Given the description of an element on the screen output the (x, y) to click on. 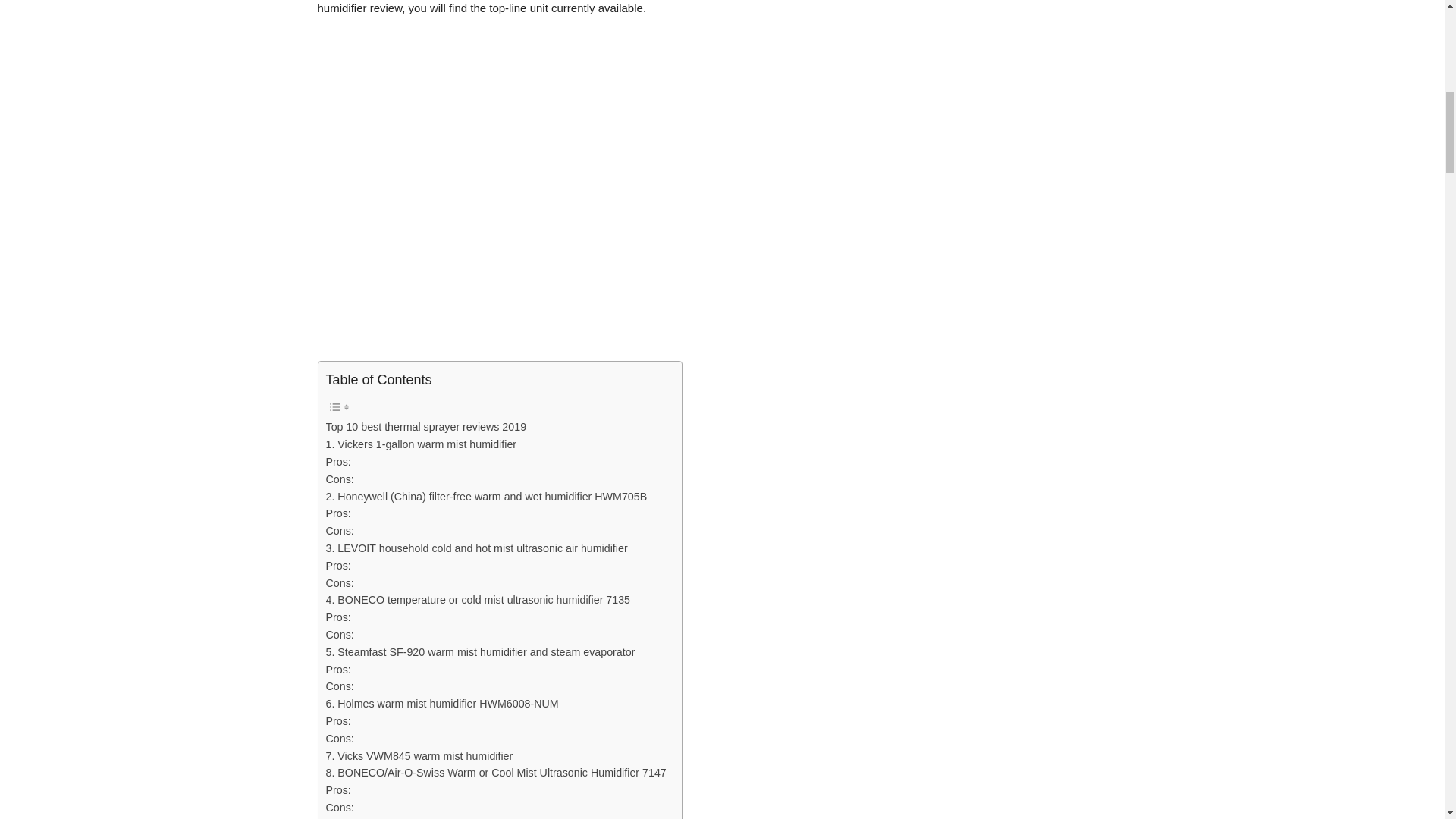
Pros: (338, 461)
Top 10 best thermal sprayer reviews 2019 (426, 426)
Cons: (339, 530)
Cons: (339, 479)
Pros: (338, 513)
1. Vickers 1-gallon warm mist humidifier (421, 444)
